Given the description of an element on the screen output the (x, y) to click on. 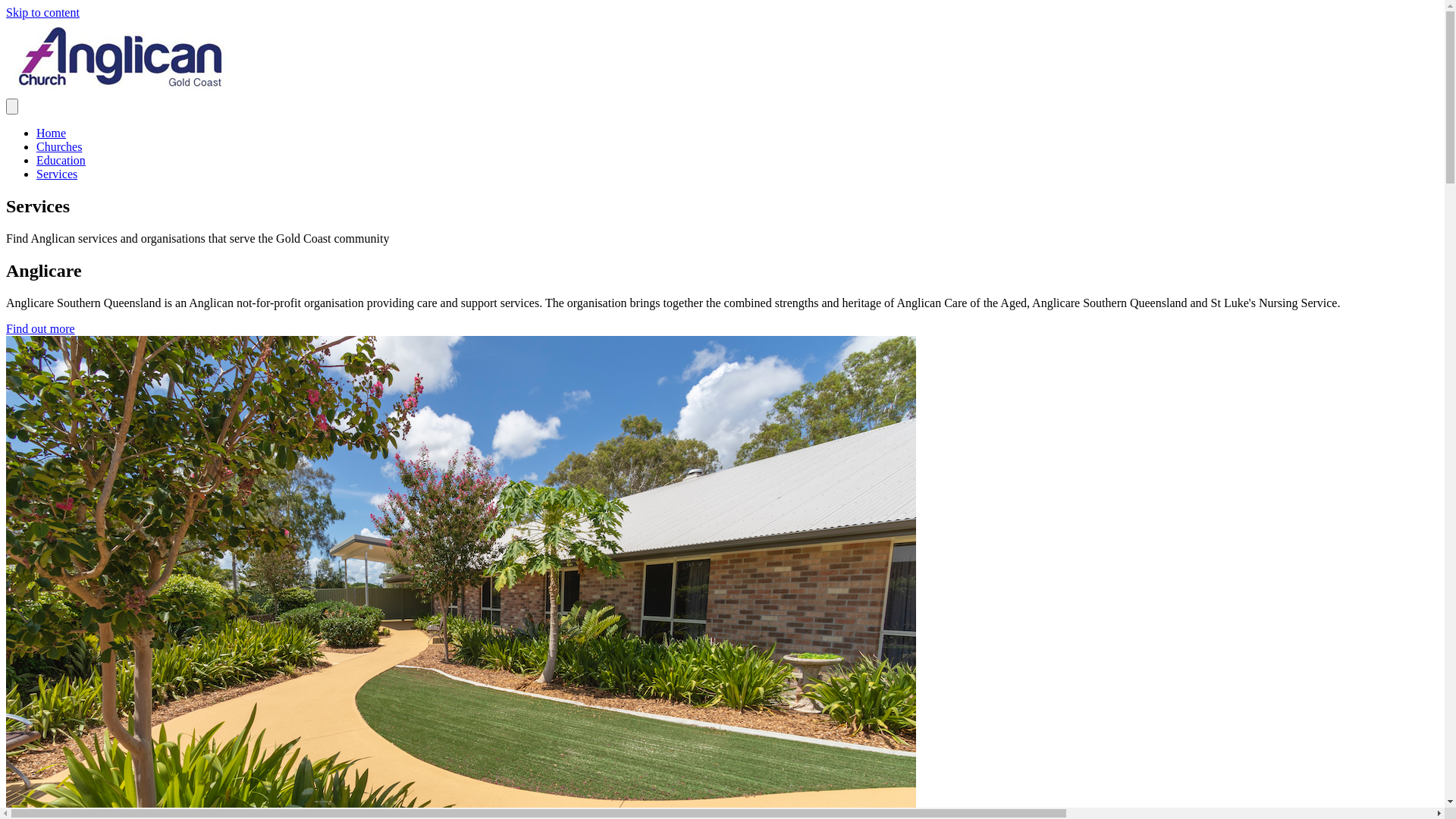
Churches Element type: text (58, 146)
Home Element type: text (50, 132)
Skip to content Element type: text (42, 12)
Find out more Element type: text (40, 328)
Services Element type: text (56, 173)
Anglican-Church-SQ-logo Element type: hover (119, 57)
Education Element type: text (60, 159)
